Given the description of an element on the screen output the (x, y) to click on. 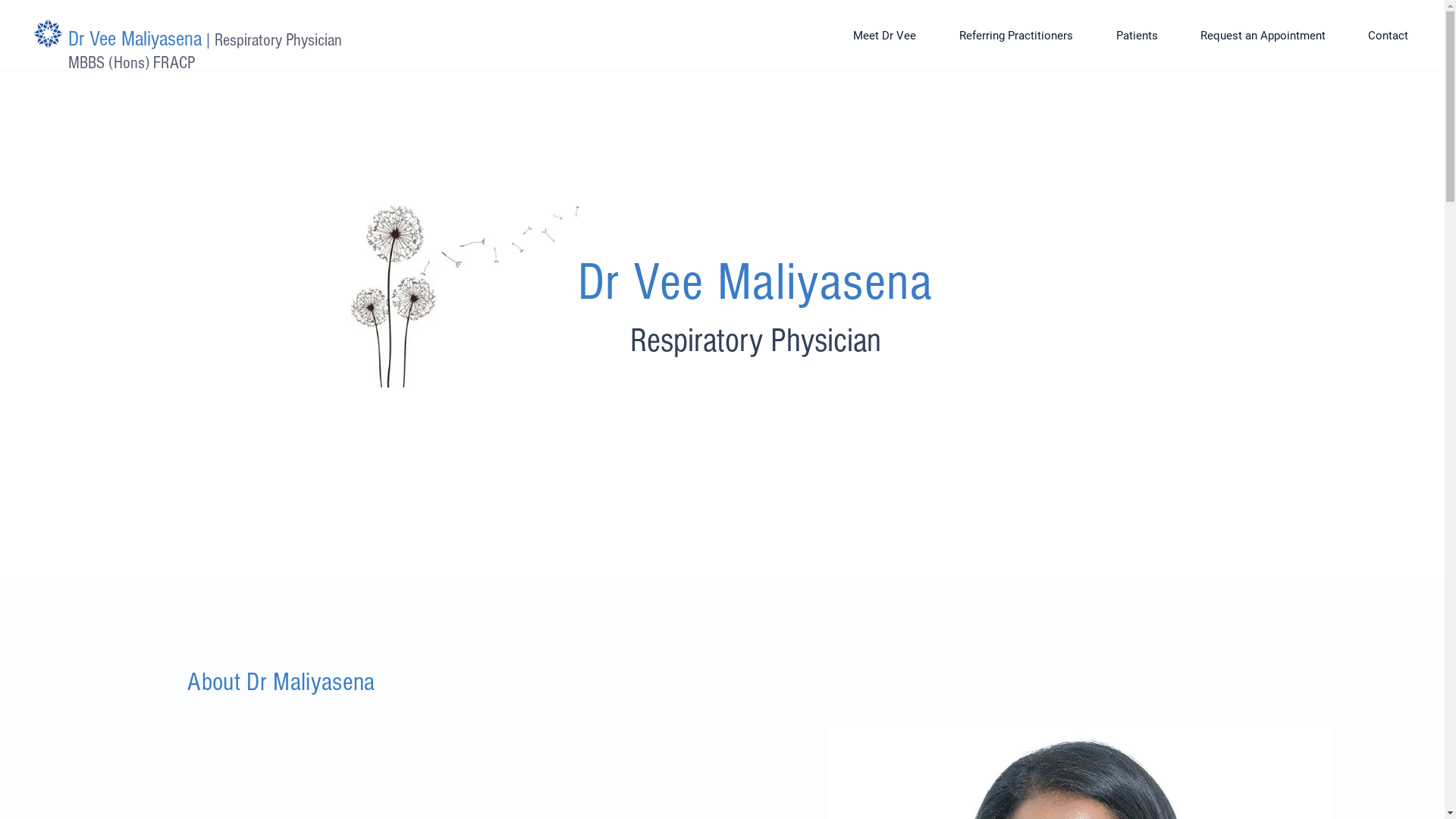
TWIPLA (Visitor Analytics) Element type: hover (728, 175)
Patients Element type: text (1136, 35)
| Element type: text (207, 40)
Meet Dr Vee Element type: text (884, 35)
MBBS (Hons) FRACP Element type: text (131, 62)
Request an Appointment Element type: text (1262, 35)
Contact Element type: text (1387, 35)
Dr Vee Maliyasena Element type: text (134, 38)
Referring Practitioners Element type: text (1015, 35)
Respiratory Physician Element type: text (278, 40)
